Given the description of an element on the screen output the (x, y) to click on. 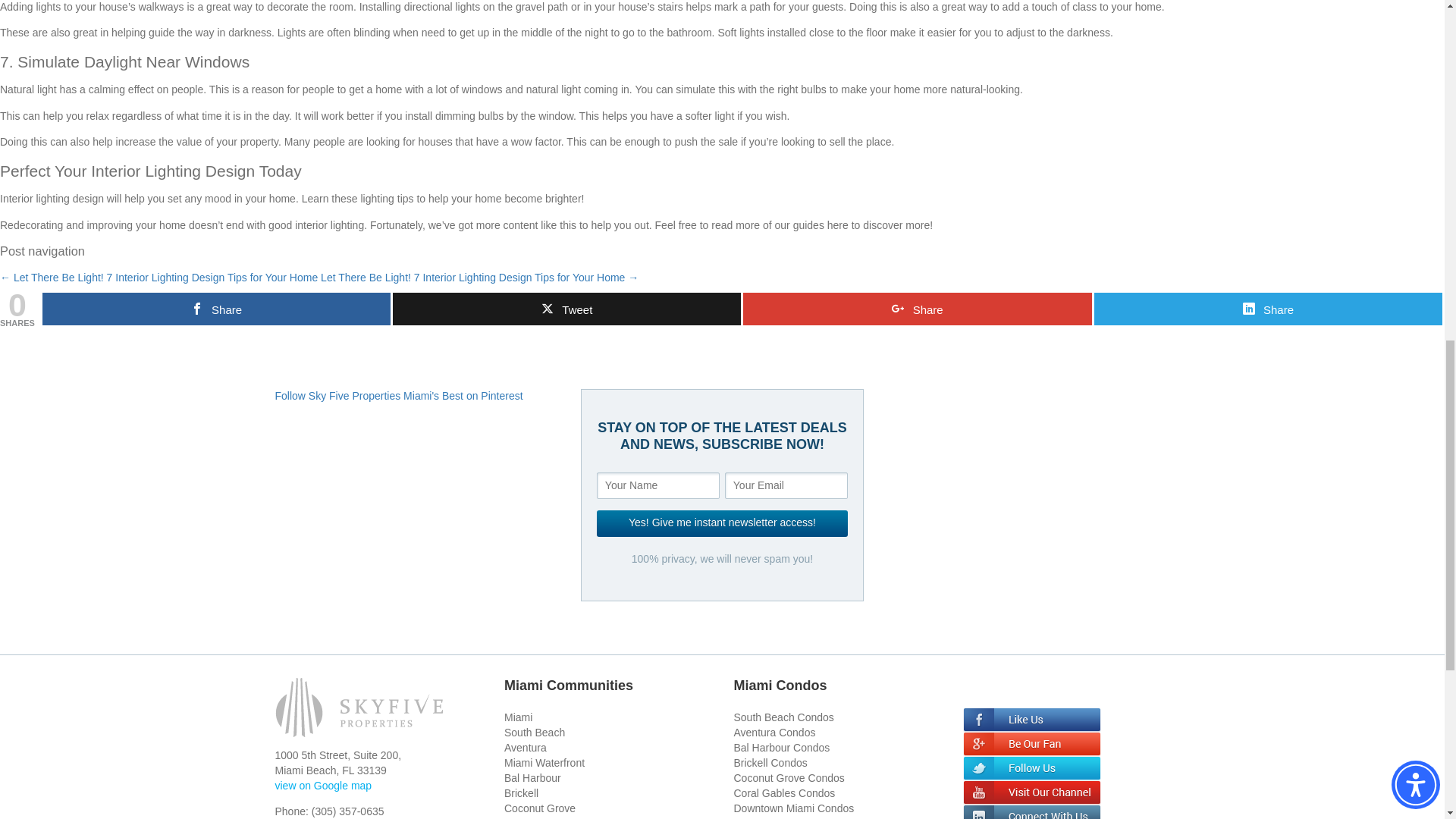
Follow Sky Five Properties Miami's Best on Pinterest (398, 395)
Share (1268, 308)
Yes! Give me instant newsletter access! (721, 523)
Aventura (525, 747)
Miami Waterfront (544, 762)
Share (916, 308)
South Beach (533, 732)
Bal Harbour (531, 777)
Miami (517, 717)
Brickell (520, 793)
Coconut Grove (539, 808)
Yes! Give me instant newsletter access! (721, 523)
Tweet (567, 308)
Coral Gables (534, 818)
Share (216, 308)
